Given the description of an element on the screen output the (x, y) to click on. 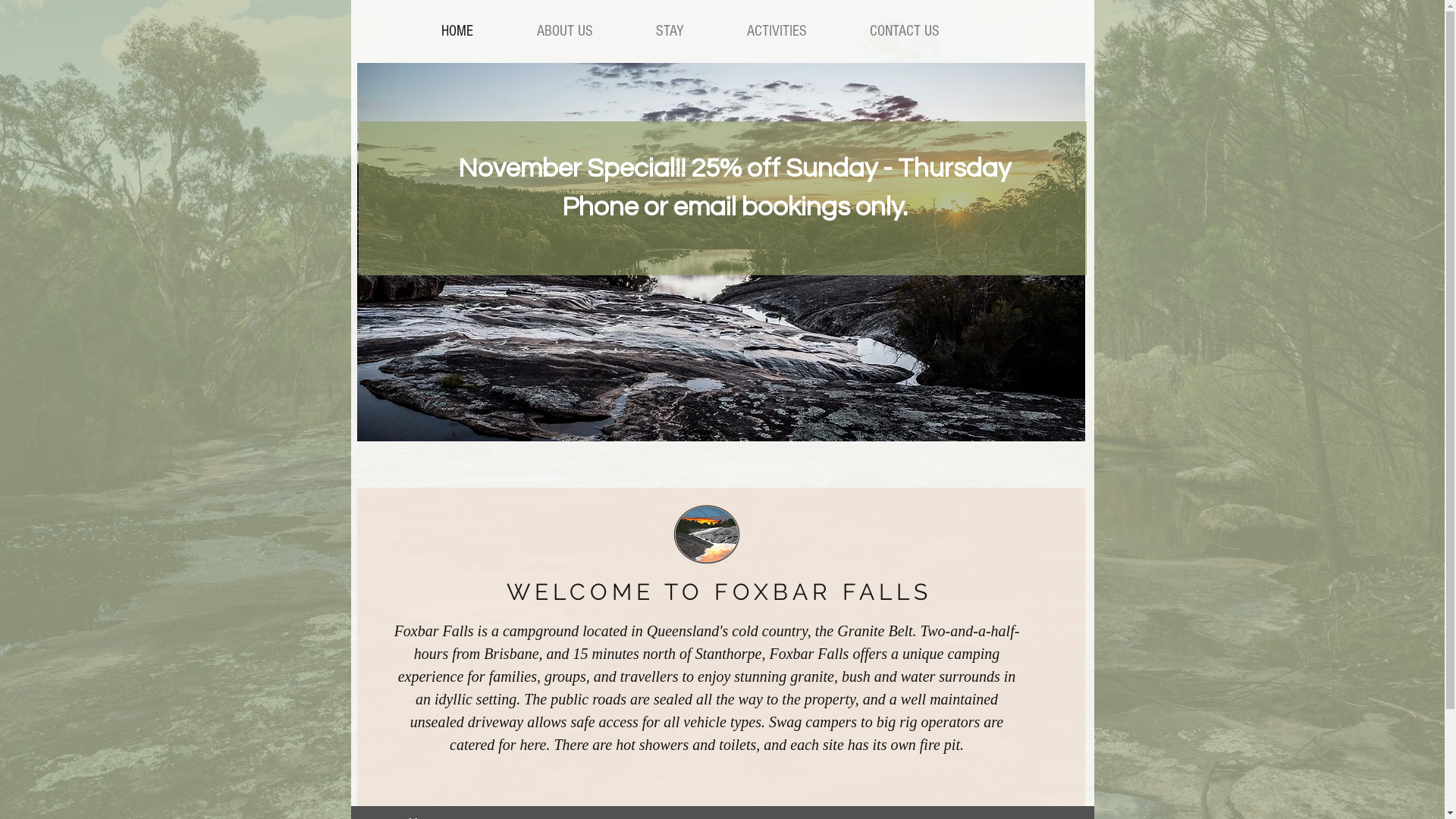
STAY Element type: text (668, 31)
CONTACT US Element type: text (903, 31)
ABOUT US Element type: text (564, 31)
HOME Element type: text (456, 31)
